Given the description of an element on the screen output the (x, y) to click on. 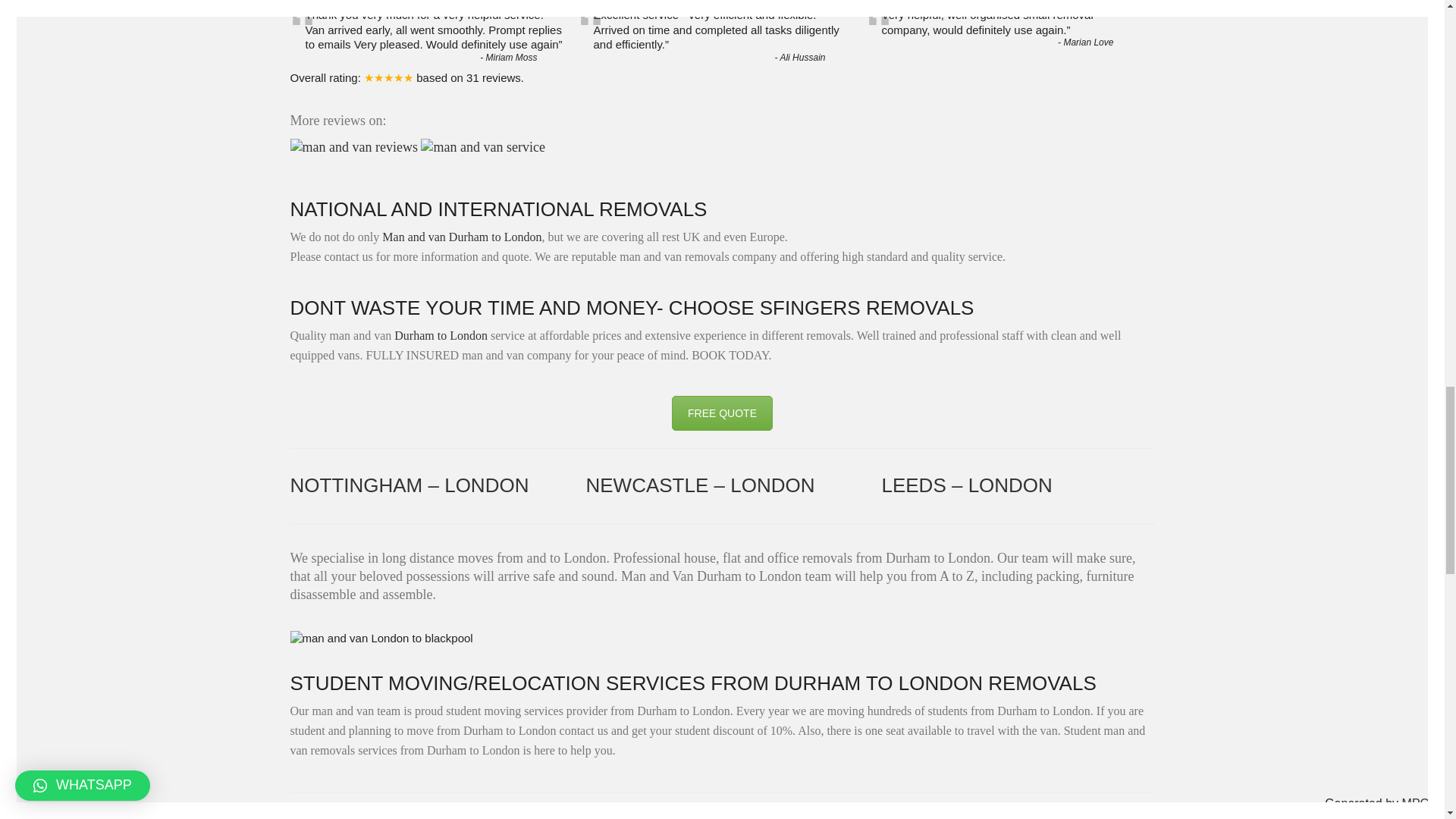
man and van London to blackpool (380, 638)
